Given the description of an element on the screen output the (x, y) to click on. 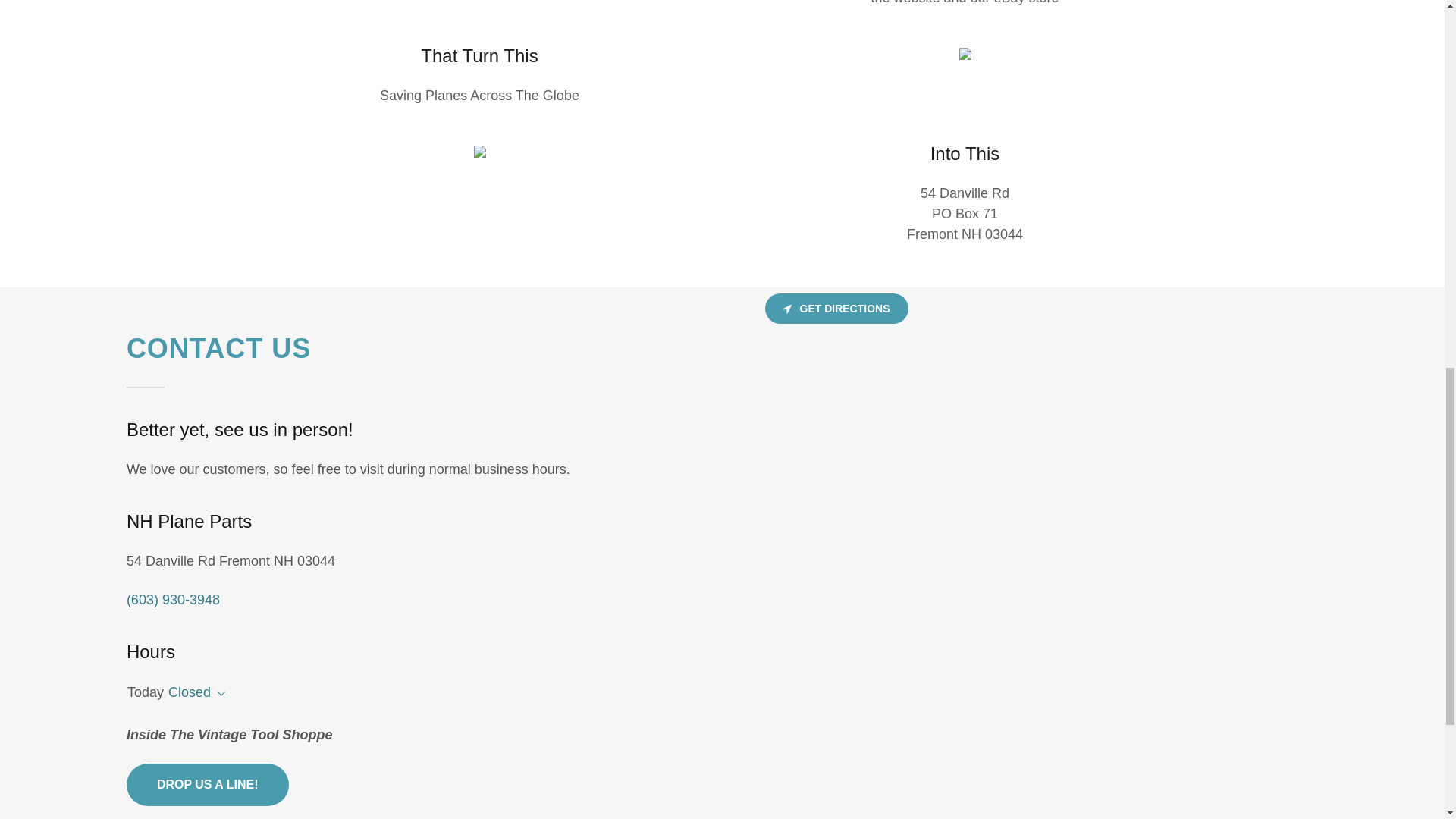
GET DIRECTIONS (835, 308)
DROP US A LINE! (207, 784)
